Given the description of an element on the screen output the (x, y) to click on. 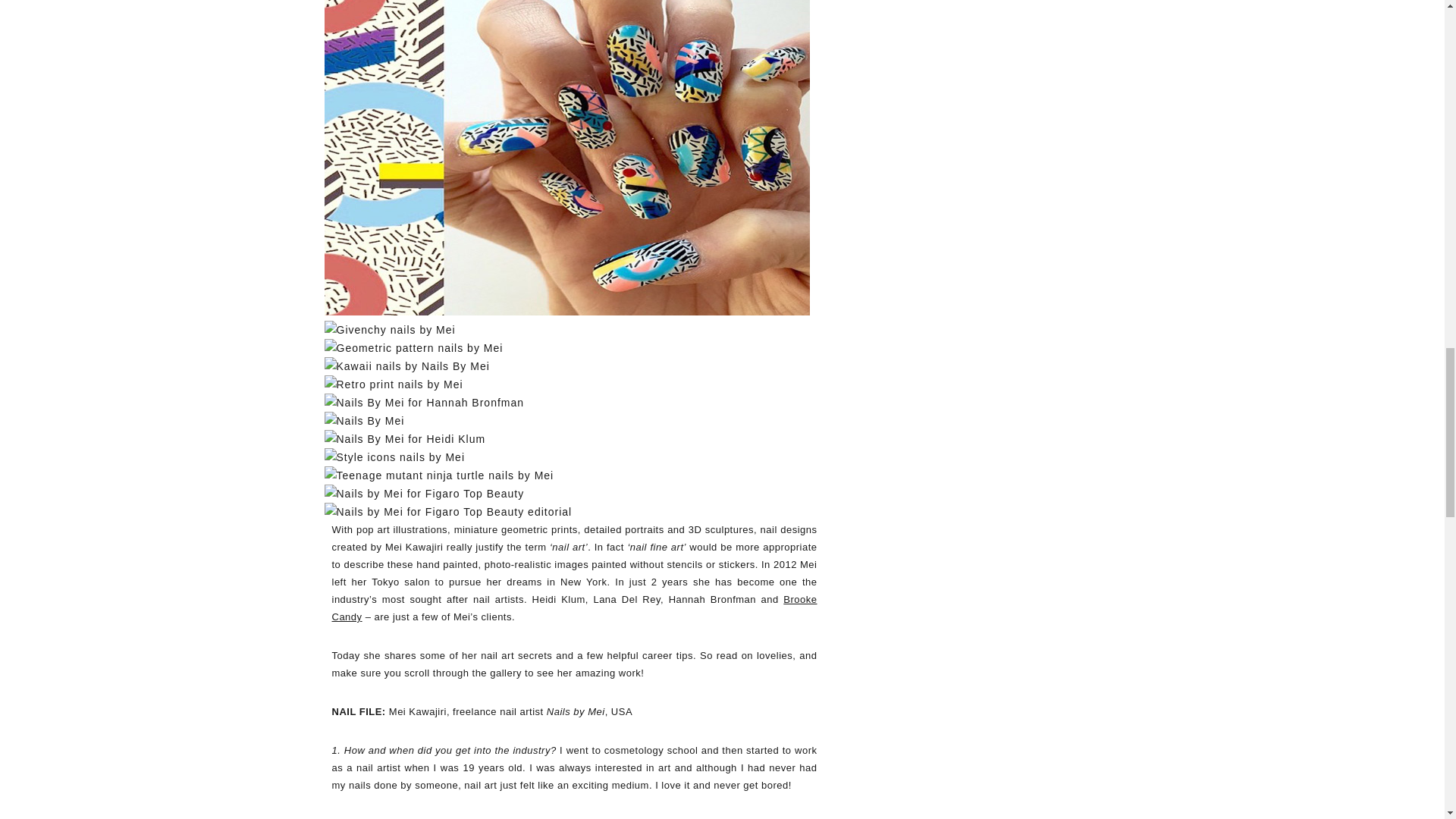
Brooke Candy (573, 607)
